Given the description of an element on the screen output the (x, y) to click on. 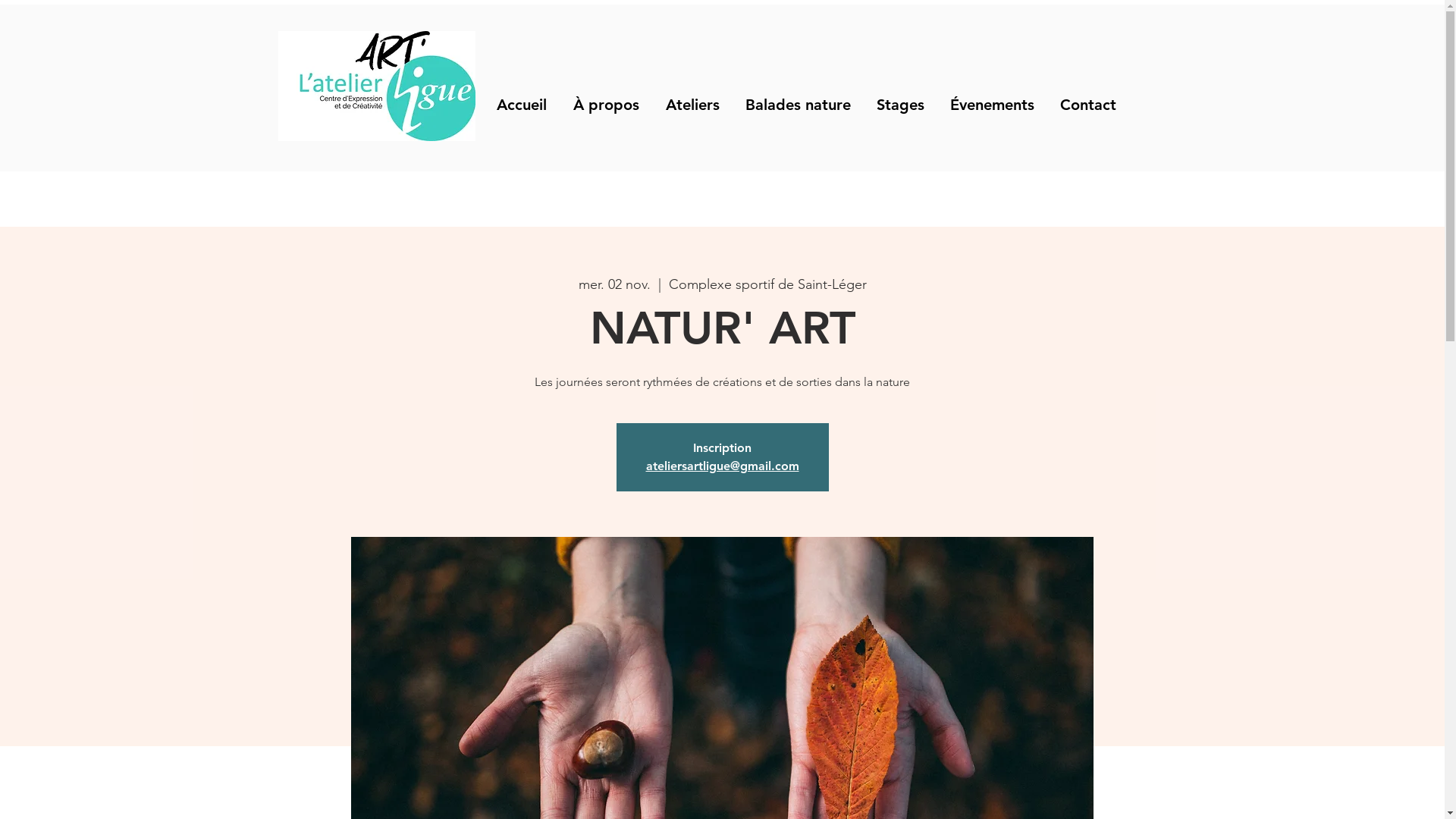
Accueil Element type: text (521, 104)
Contact Element type: text (1087, 104)
Balades nature Element type: text (797, 104)
ateliersartligue@gmail.com Element type: text (722, 465)
